Given the description of an element on the screen output the (x, y) to click on. 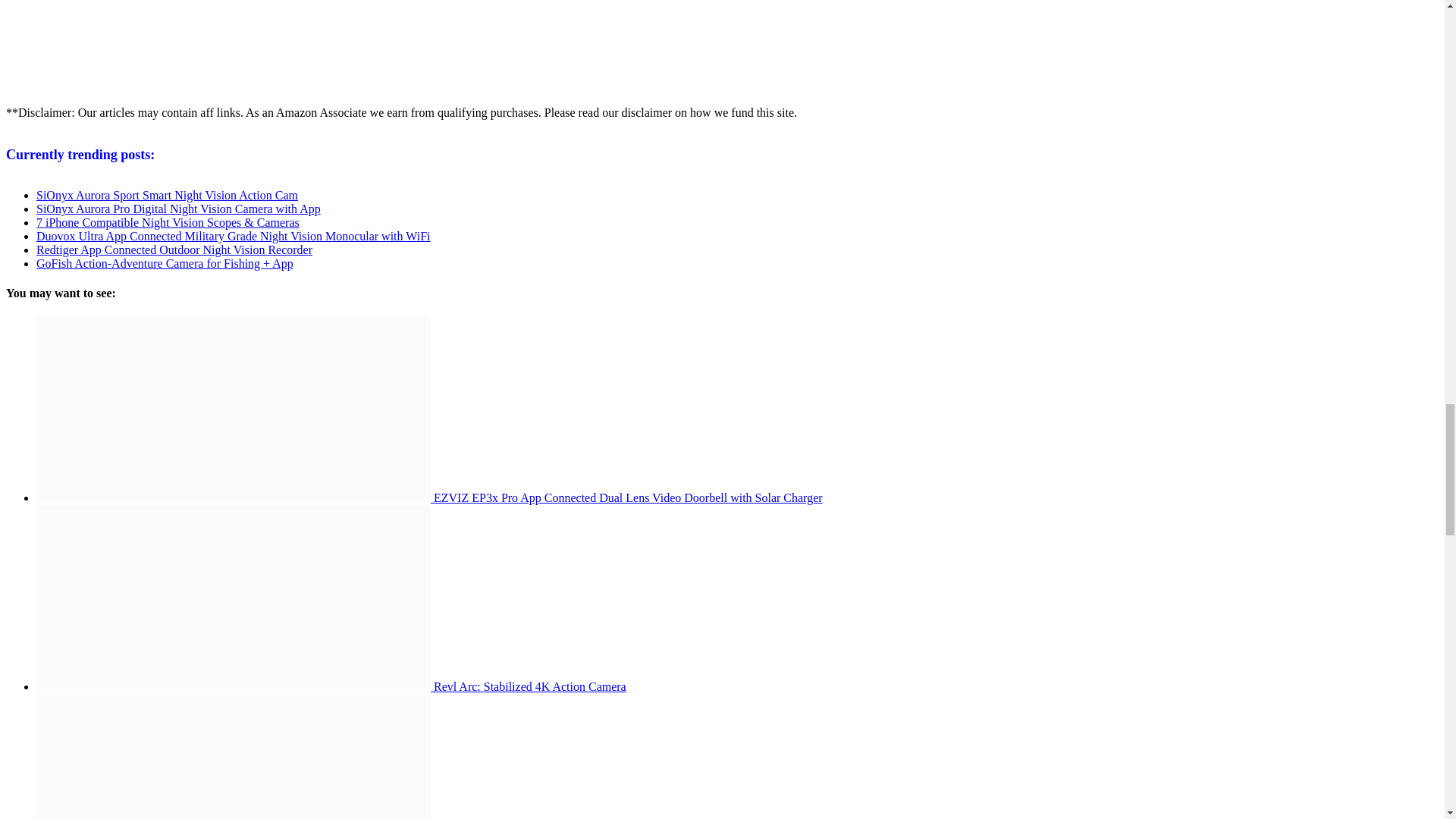
SiOnyx Aurora Sport Smart Night Vision Action Cam (167, 195)
SiOnyx Aurora Pro Digital Night Vision Camera with App (178, 208)
Redtiger App Connected Outdoor Night Vision Recorder (174, 249)
